Given the description of an element on the screen output the (x, y) to click on. 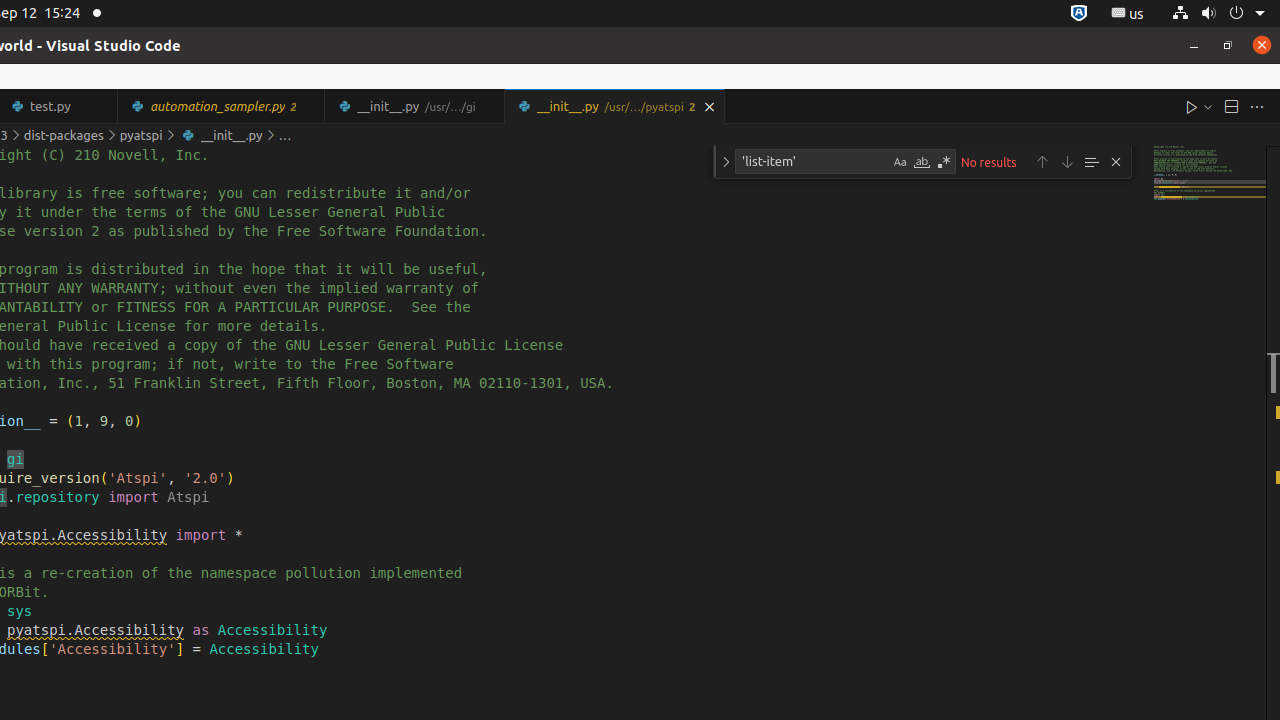
Split Editor Down Element type: push-button (1231, 106)
automation_sampler.py, preview Element type: page-tab (222, 106)
